Given the description of an element on the screen output the (x, y) to click on. 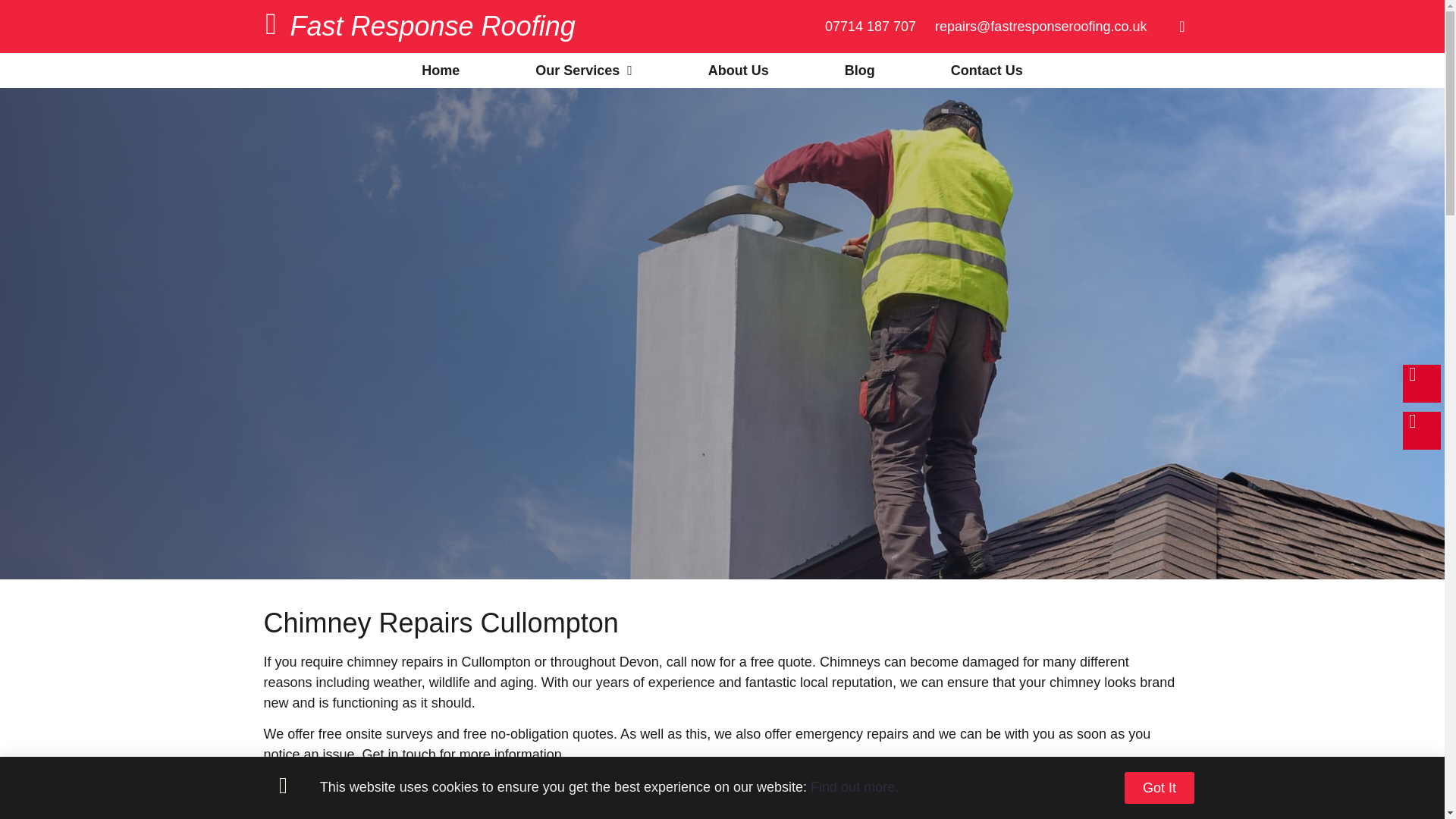
Fast Response Roofing (432, 25)
Contact Our Roofers Today (370, 797)
Home (440, 70)
Blog (859, 70)
Our Services (583, 70)
About Us (738, 70)
07714 187 707 (870, 26)
Contact Us (987, 70)
